Given the description of an element on the screen output the (x, y) to click on. 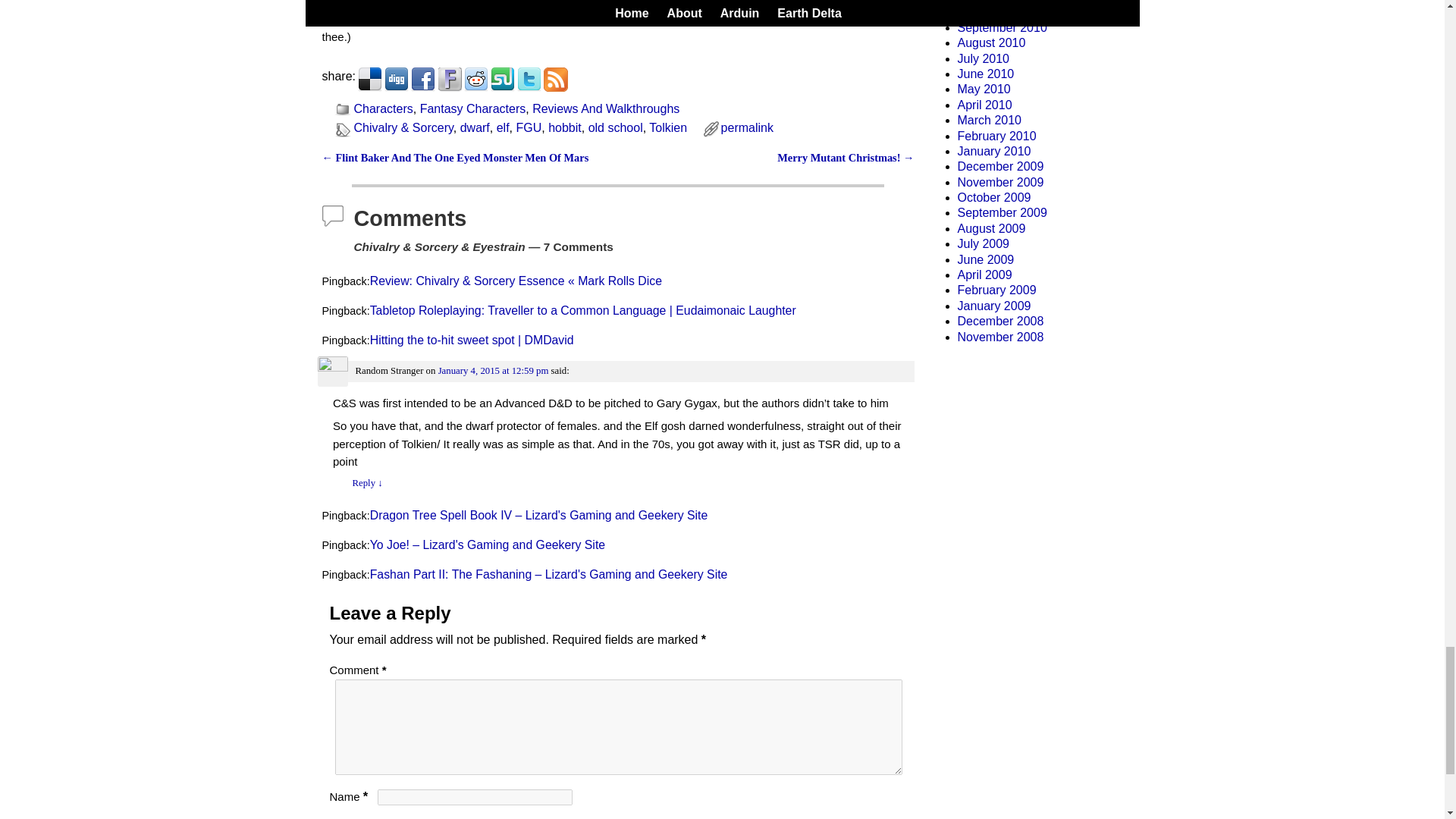
Fantasy Characters (472, 108)
Characters (382, 108)
Reviews And Walkthroughs (605, 108)
